Given the description of an element on the screen output the (x, y) to click on. 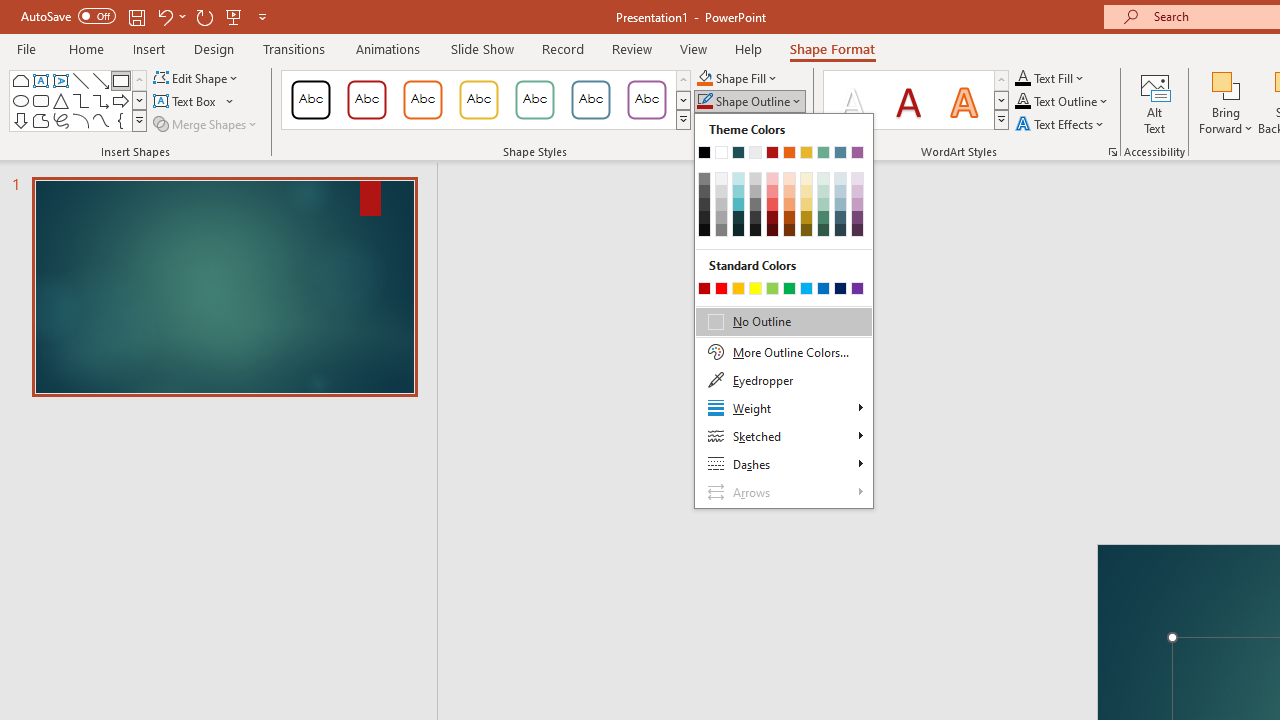
Colored Outline - Orange, Accent 2 (422, 100)
Bring Forward (1225, 102)
Edit Shape (196, 78)
Colored Outline - Purple, Accent 6 (646, 100)
Text Effects (1061, 124)
Draw Horizontal Text Box (185, 101)
